Given the description of an element on the screen output the (x, y) to click on. 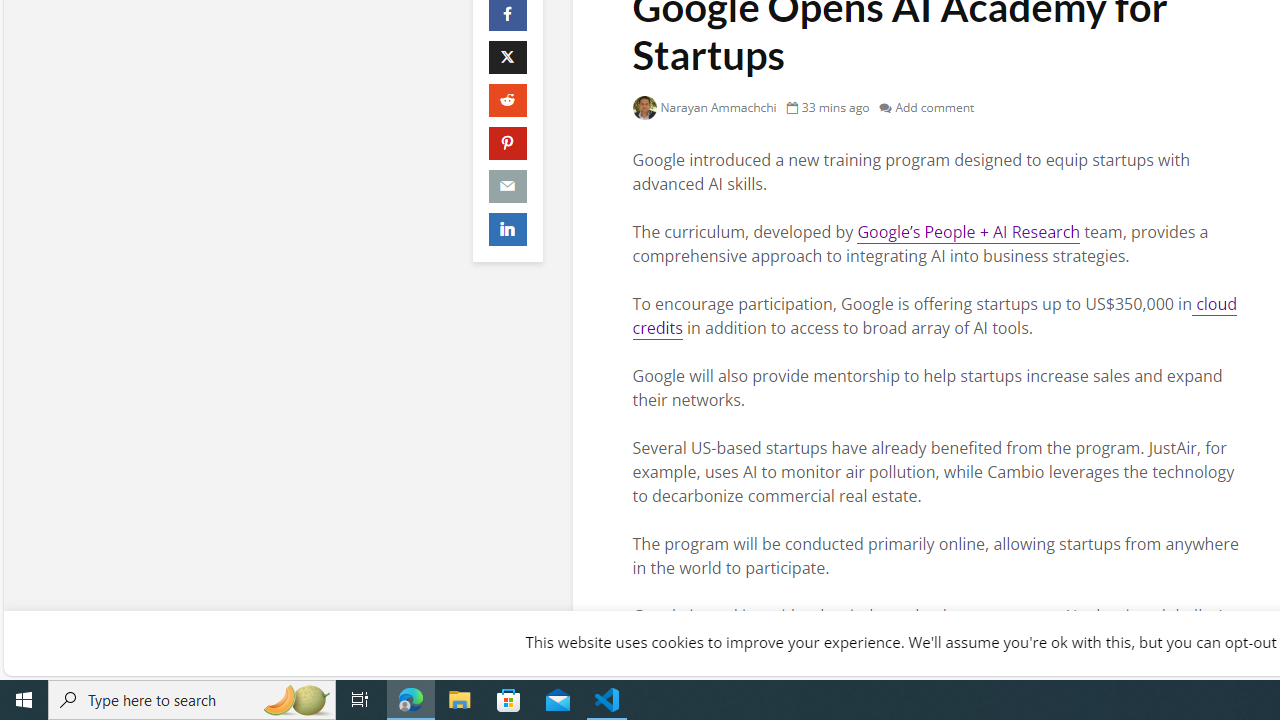
Banco Santander (875, 639)
 cloud credits (934, 315)
Narayan Ammachchi (704, 107)
